Given the description of an element on the screen output the (x, y) to click on. 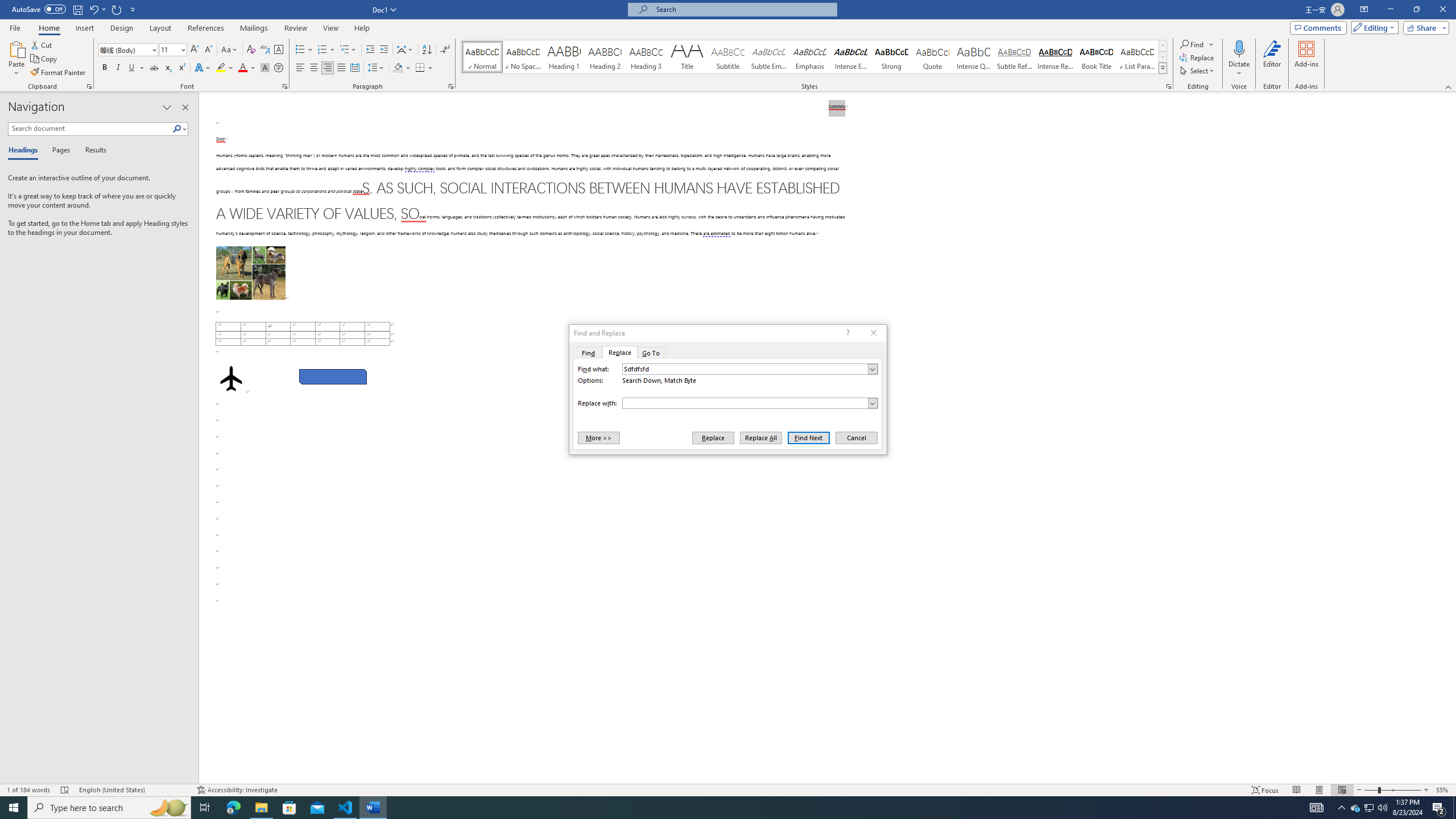
Ribbon Display Options (1364, 9)
Align Right (327, 67)
Subtle Reference (1014, 56)
Distributed (354, 67)
More Options (1238, 68)
Insert (83, 28)
Print Layout (1318, 790)
Strikethrough (154, 67)
Borders (419, 67)
Paragraph... (450, 85)
Intense Emphasis (849, 56)
Save (77, 9)
Accessibility Checker Accessibility: Investigate (237, 790)
Subtitle (727, 56)
